Given the description of an element on the screen output the (x, y) to click on. 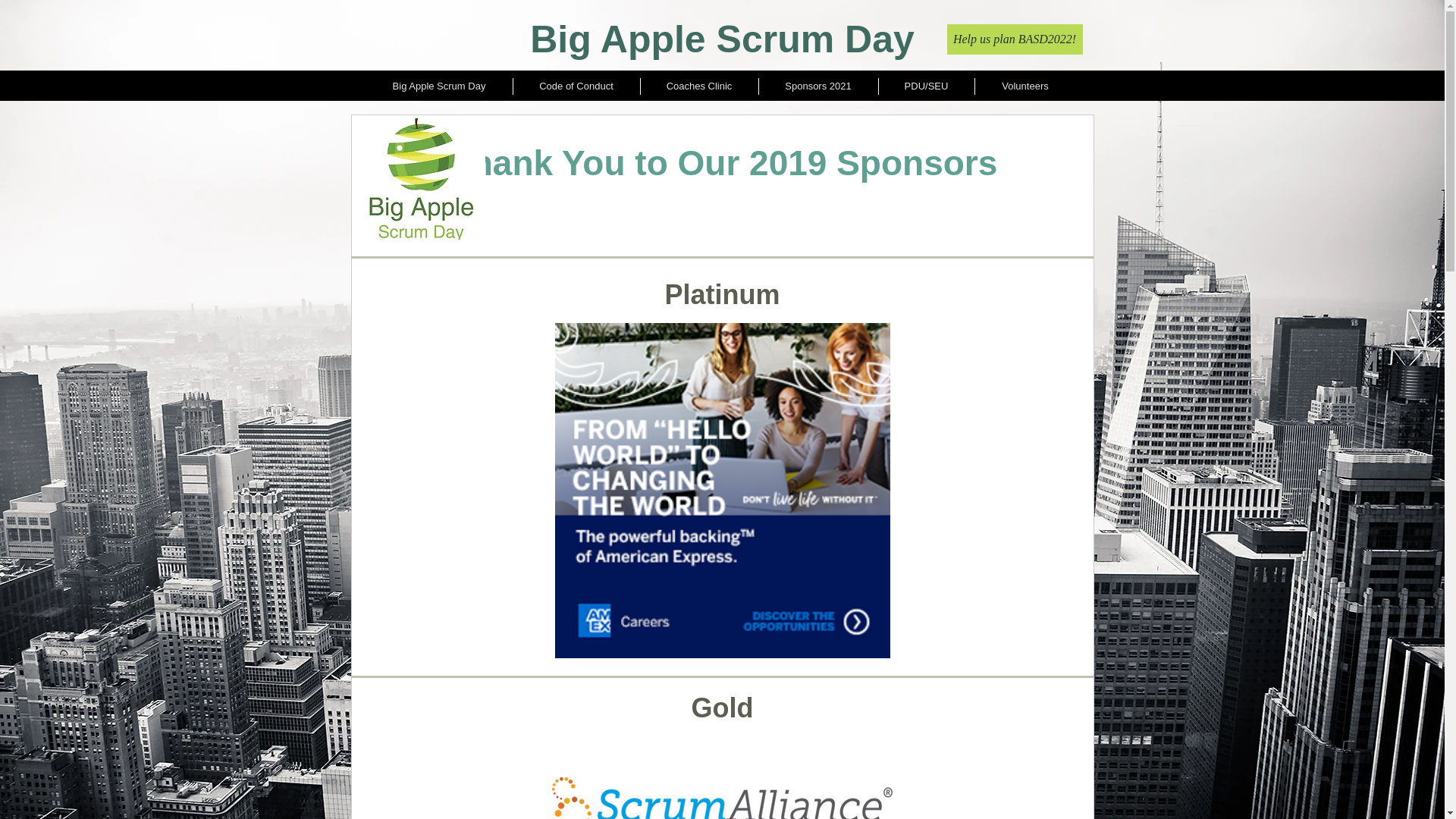
Help us plan BASD2022! (1013, 39)
Big Apple Scrum Day (721, 39)
Big Apple Scrum Day (438, 86)
Code of Conduct (575, 86)
Volunteers (1025, 86)
Sponsors 2021 (817, 86)
Coaches Clinic (698, 86)
